Given the description of an element on the screen output the (x, y) to click on. 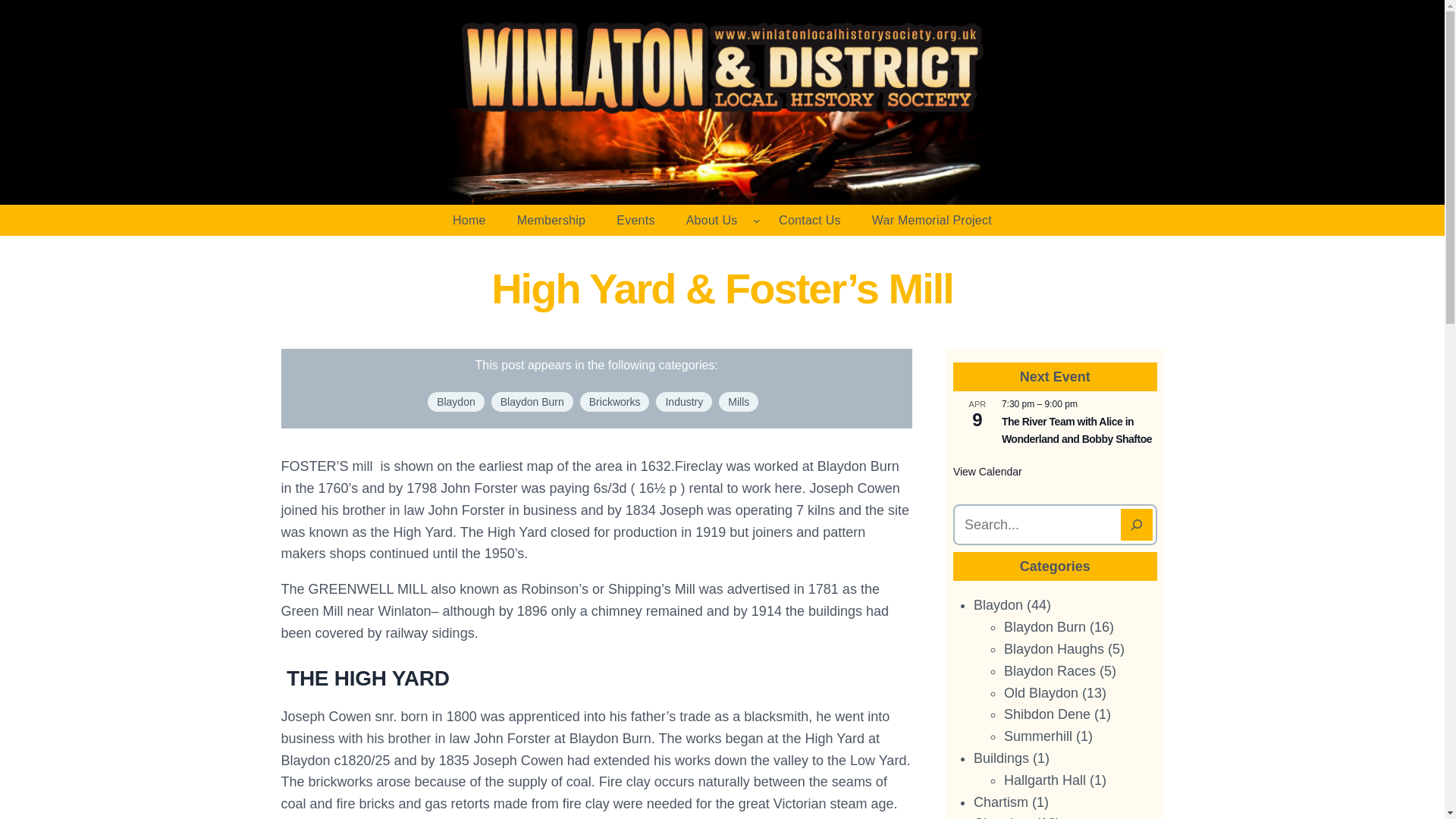
View Calendar (987, 472)
Industry (683, 401)
Blaydon Haughs (1053, 648)
Home (469, 220)
Membership (551, 220)
Churches (1003, 817)
Mills (738, 401)
About Us (711, 220)
The River Team with Alice in Wonderland and Bobby Shaftoe (1076, 430)
Chartism (1000, 801)
